Given the description of an element on the screen output the (x, y) to click on. 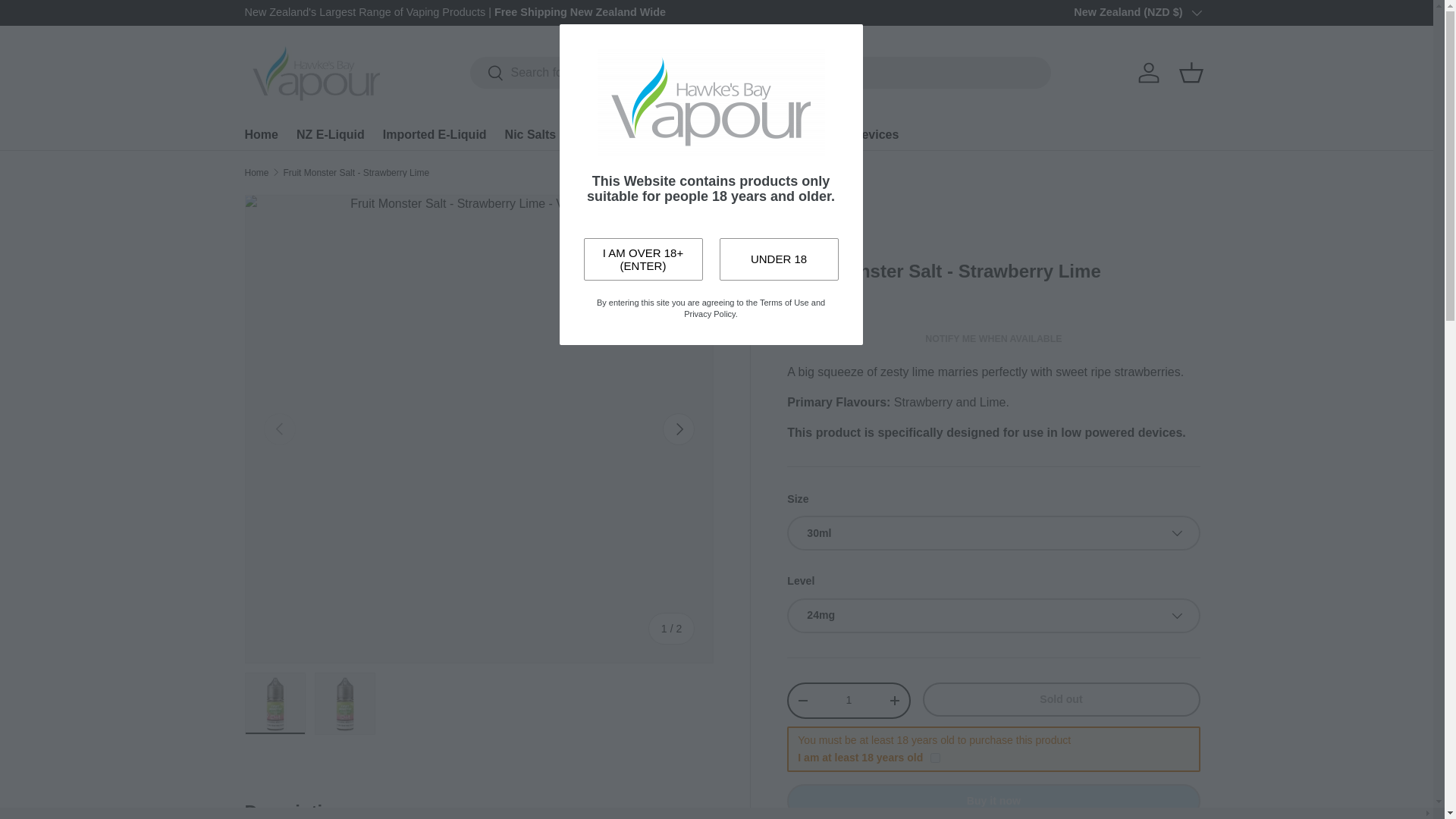
24mg (993, 615)
Buy it now (993, 800)
Skip to content (69, 21)
UNDER 18 (778, 259)
Basket (1190, 72)
NZ E-Liquid (331, 134)
Home (255, 172)
- (802, 700)
Search (486, 73)
NOTIFY ME WHEN AVAILABLE (993, 338)
